Given the description of an element on the screen output the (x, y) to click on. 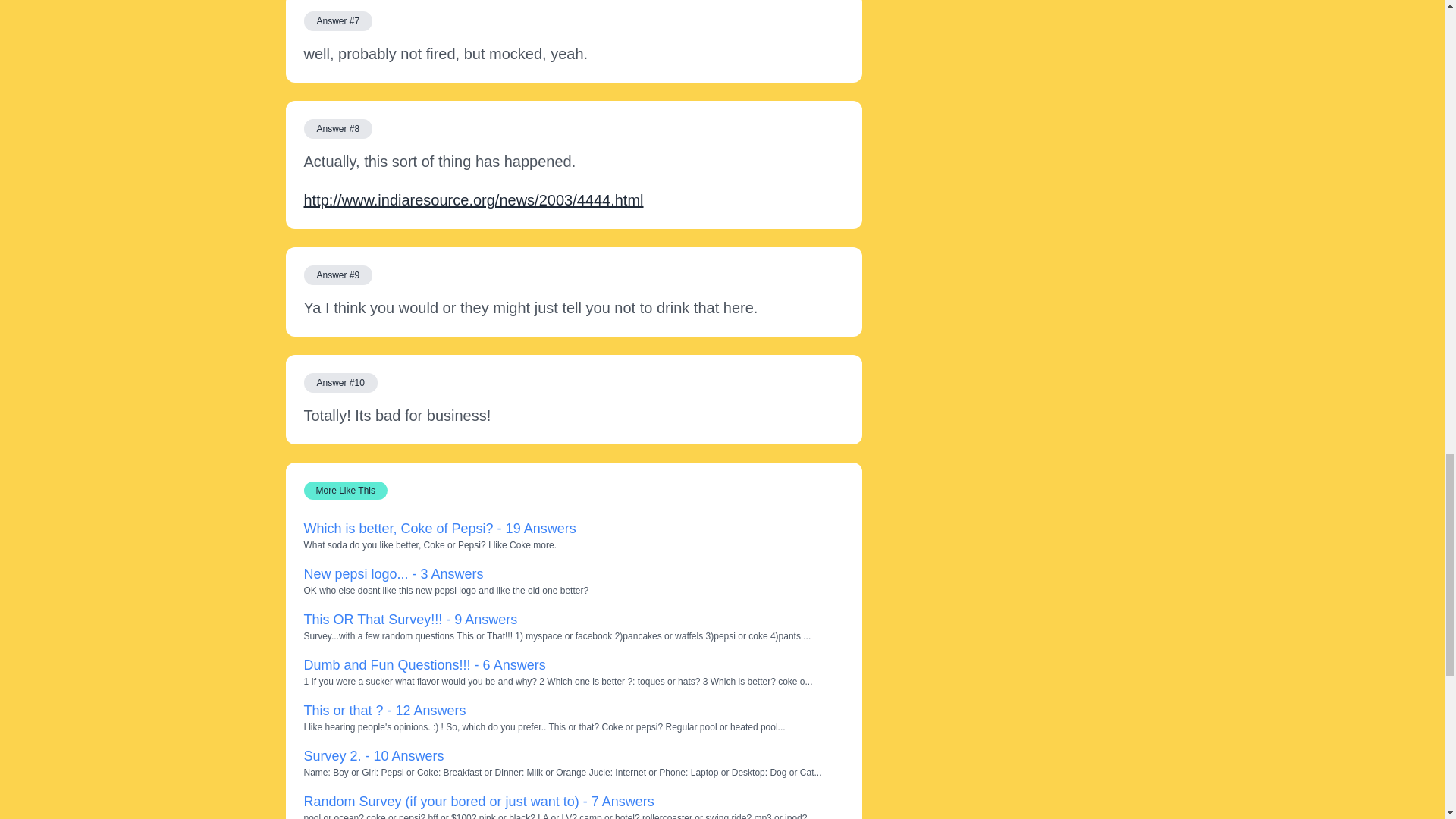
This OR That Survey!!! - 9 Answers (409, 619)
Dumb and Fun Questions!!! - 6 Answers (423, 664)
Which is better, Coke of Pepsi? - 19 Answers (438, 528)
New pepsi logo... - 3 Answers (392, 573)
Survey 2. - 10 Answers (373, 755)
This or that ? - 12 Answers (383, 710)
